Given the description of an element on the screen output the (x, y) to click on. 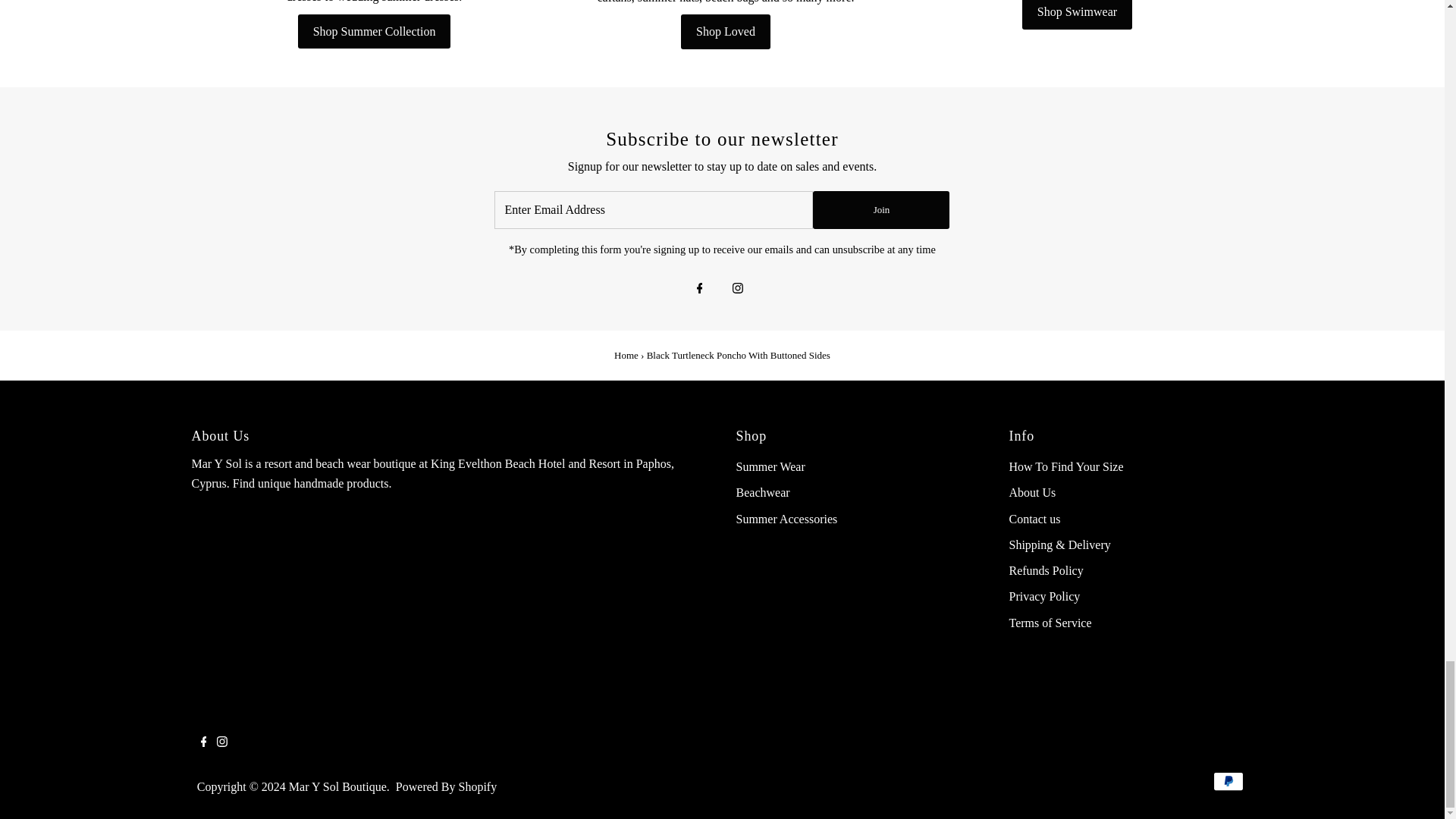
Home (626, 355)
PayPal (1227, 781)
